Given the description of an element on the screen output the (x, y) to click on. 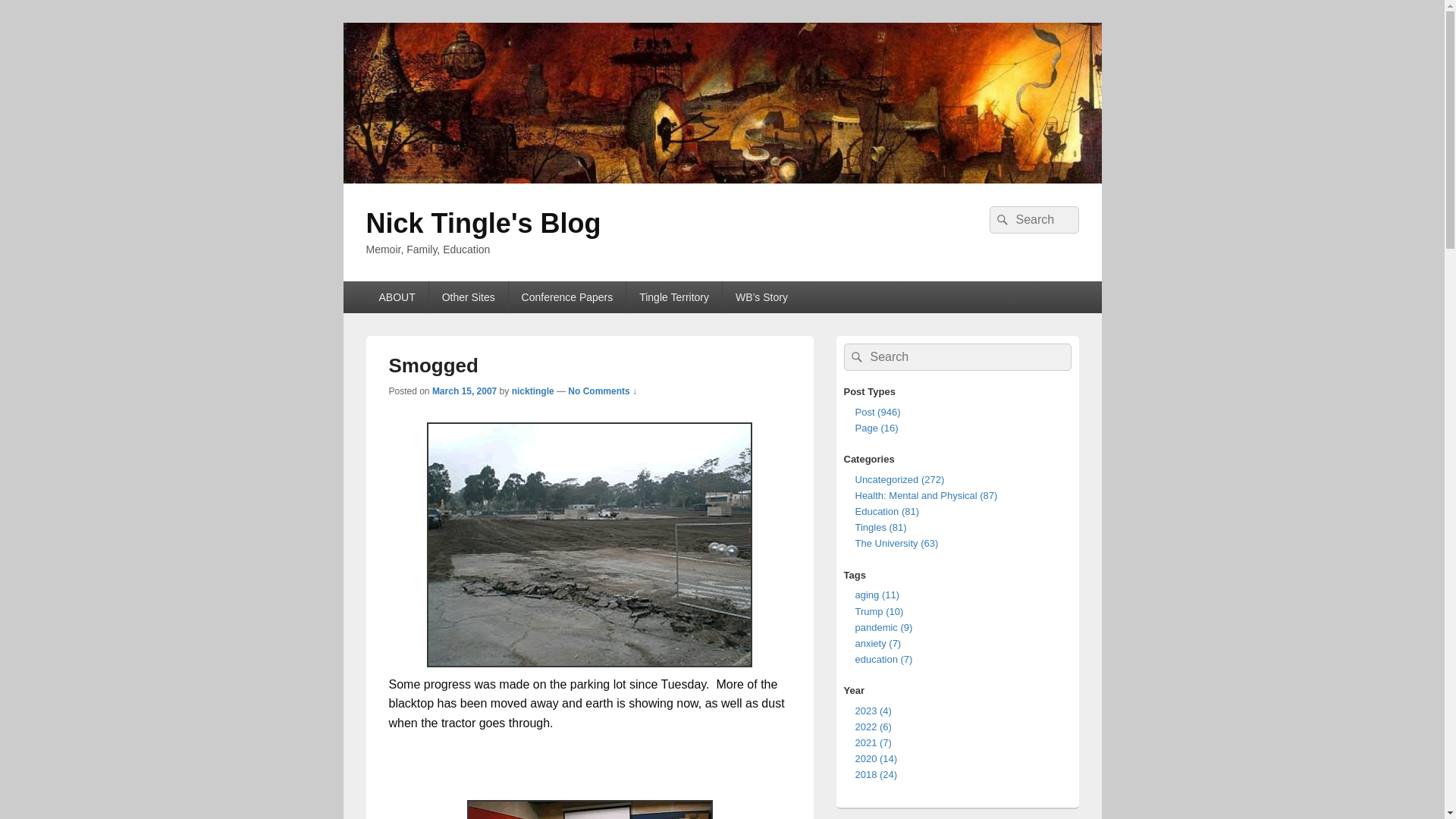
Search for: (1033, 219)
Nick Tingle's Blog (482, 223)
Nick Tingle's Blog (721, 178)
avroom (590, 809)
March 15, 2007 (464, 390)
Search for: (956, 357)
parkinglot2 (589, 544)
Conference Papers (567, 296)
4:23 pm (464, 390)
Tingle Territory (674, 296)
